Given the description of an element on the screen output the (x, y) to click on. 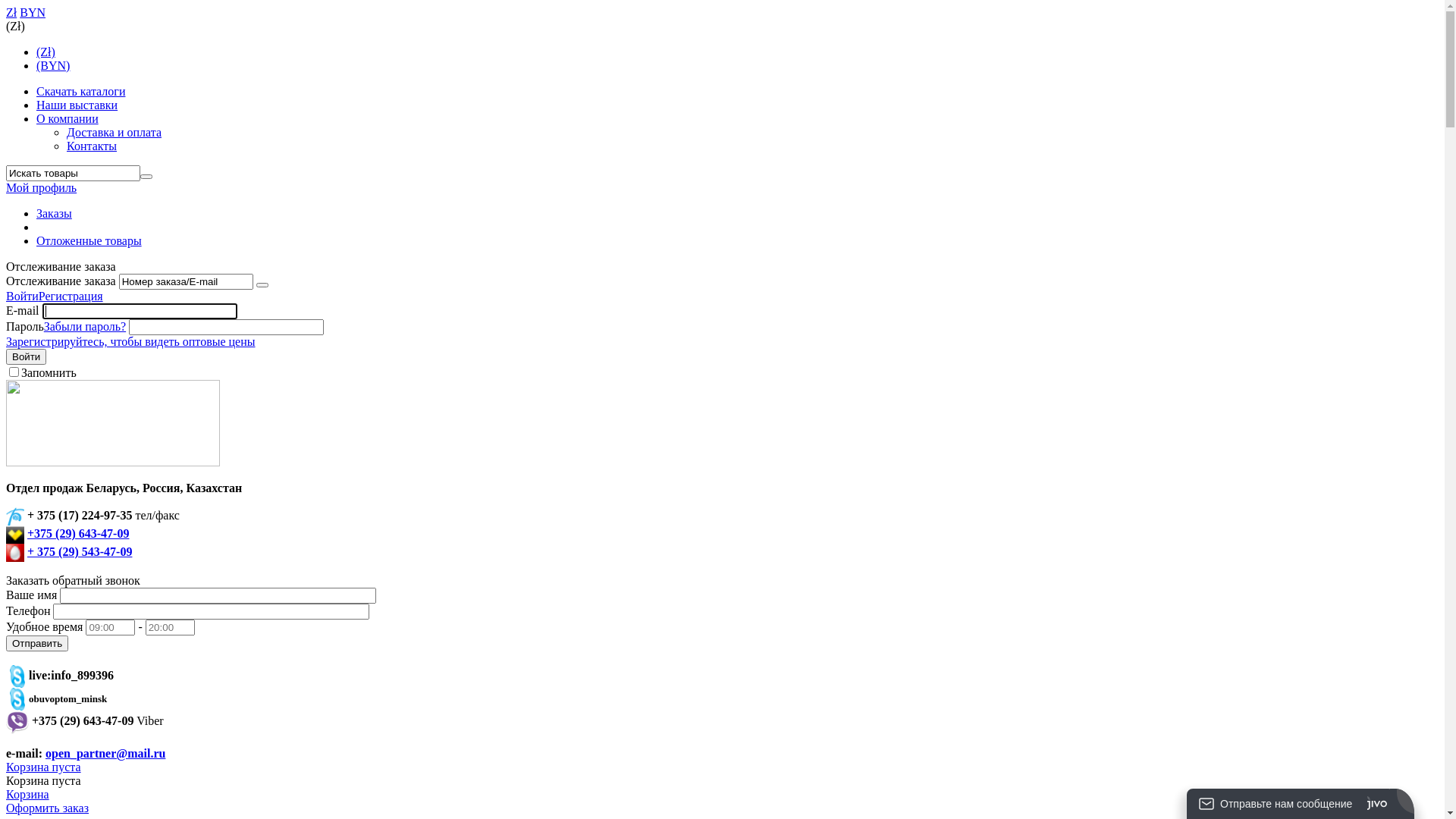
BYN Element type: text (32, 12)
open_partner@mail.ru Element type: text (105, 752)
(BYN) Element type: text (52, 65)
+ 375 (29) 543-47-09 Element type: text (79, 551)
+375 (29) 643-47-09 Element type: text (77, 533)
